Given the description of an element on the screen output the (x, y) to click on. 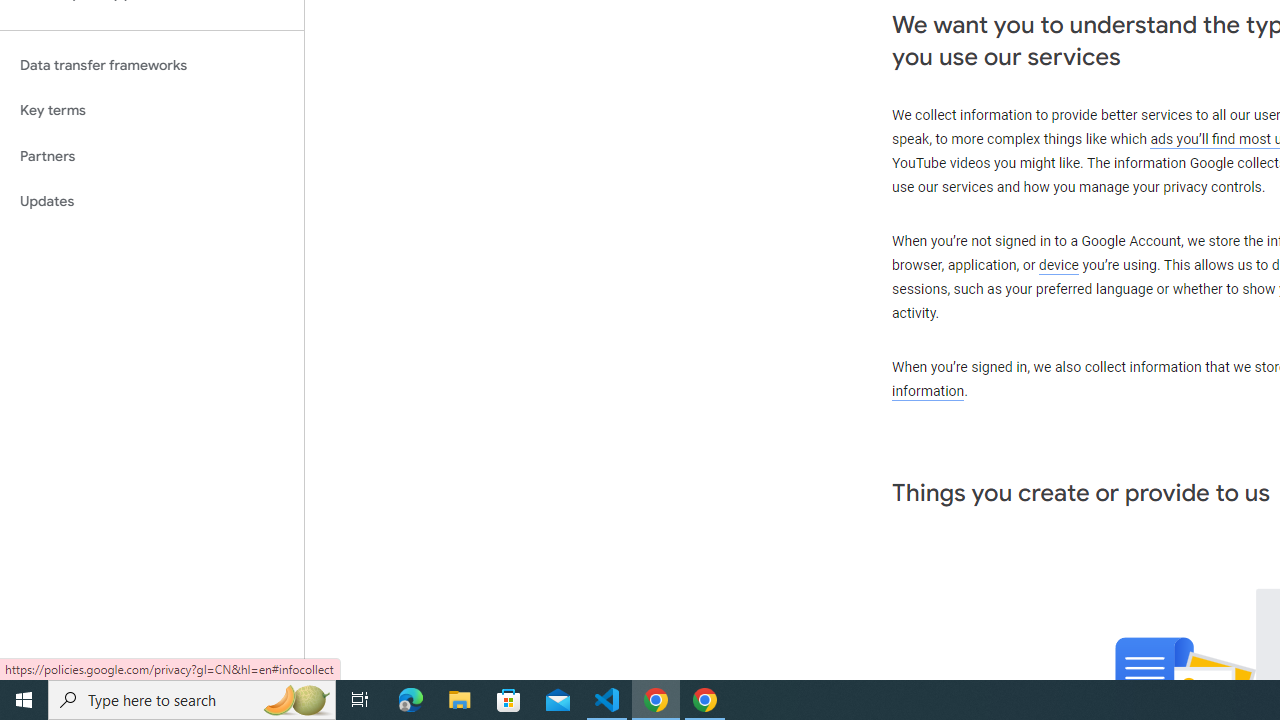
Data transfer frameworks (152, 65)
device (1059, 265)
Key terms (152, 110)
Partners (152, 156)
